Given the description of an element on the screen output the (x, y) to click on. 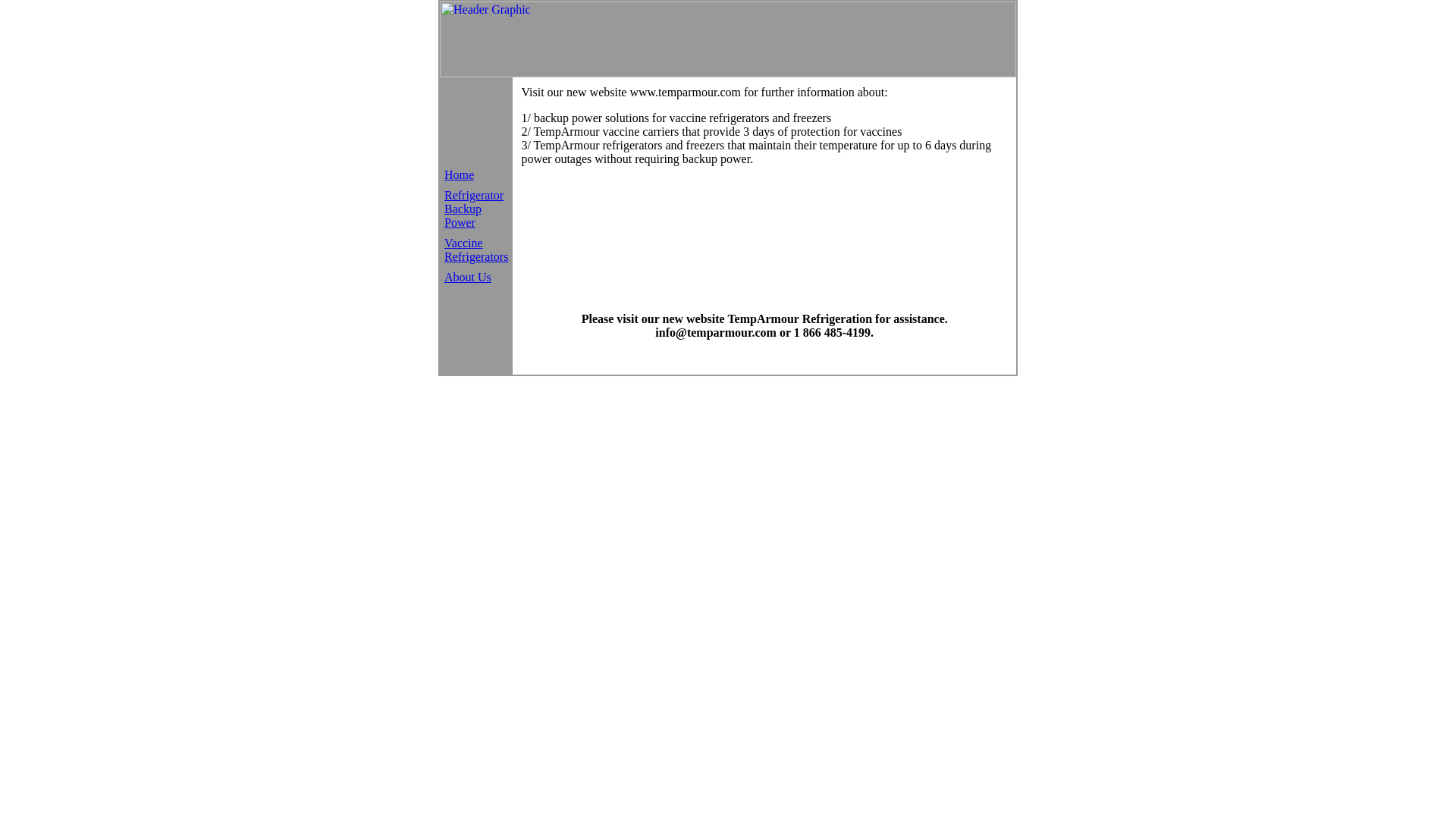
About Us Element type: text (467, 275)
Refrigerator Backup Power Element type: text (473, 208)
Home Element type: text (458, 174)
Vaccine Refrigerators Element type: text (476, 249)
